Given the description of an element on the screen output the (x, y) to click on. 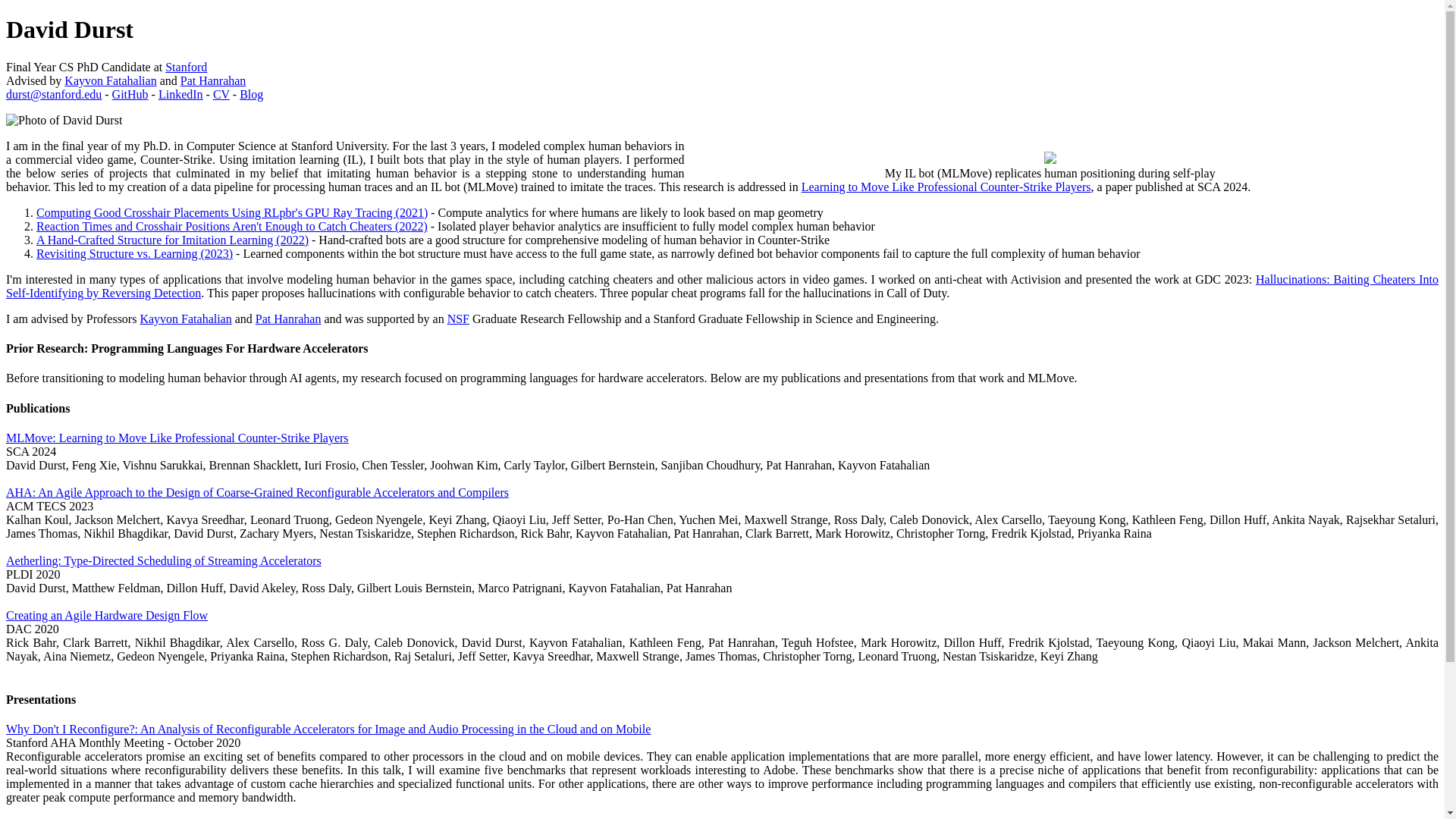
NSF (457, 318)
Blog (251, 93)
Stanford (185, 66)
Creating an Agile Hardware Design Flow (106, 615)
Kayvon Fatahalian (185, 318)
GitHub (130, 93)
CV (221, 93)
